Given the description of an element on the screen output the (x, y) to click on. 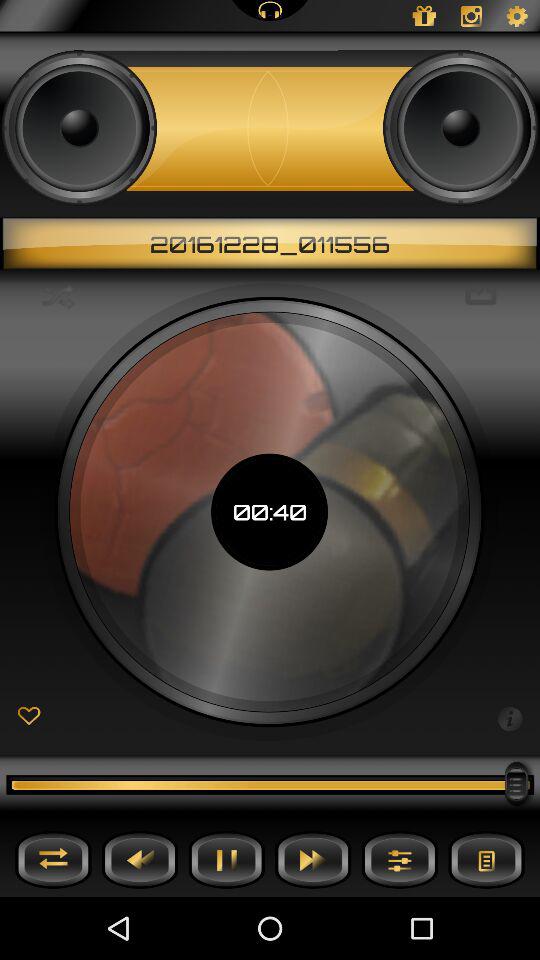
used to go fast forward (313, 859)
